Given the description of an element on the screen output the (x, y) to click on. 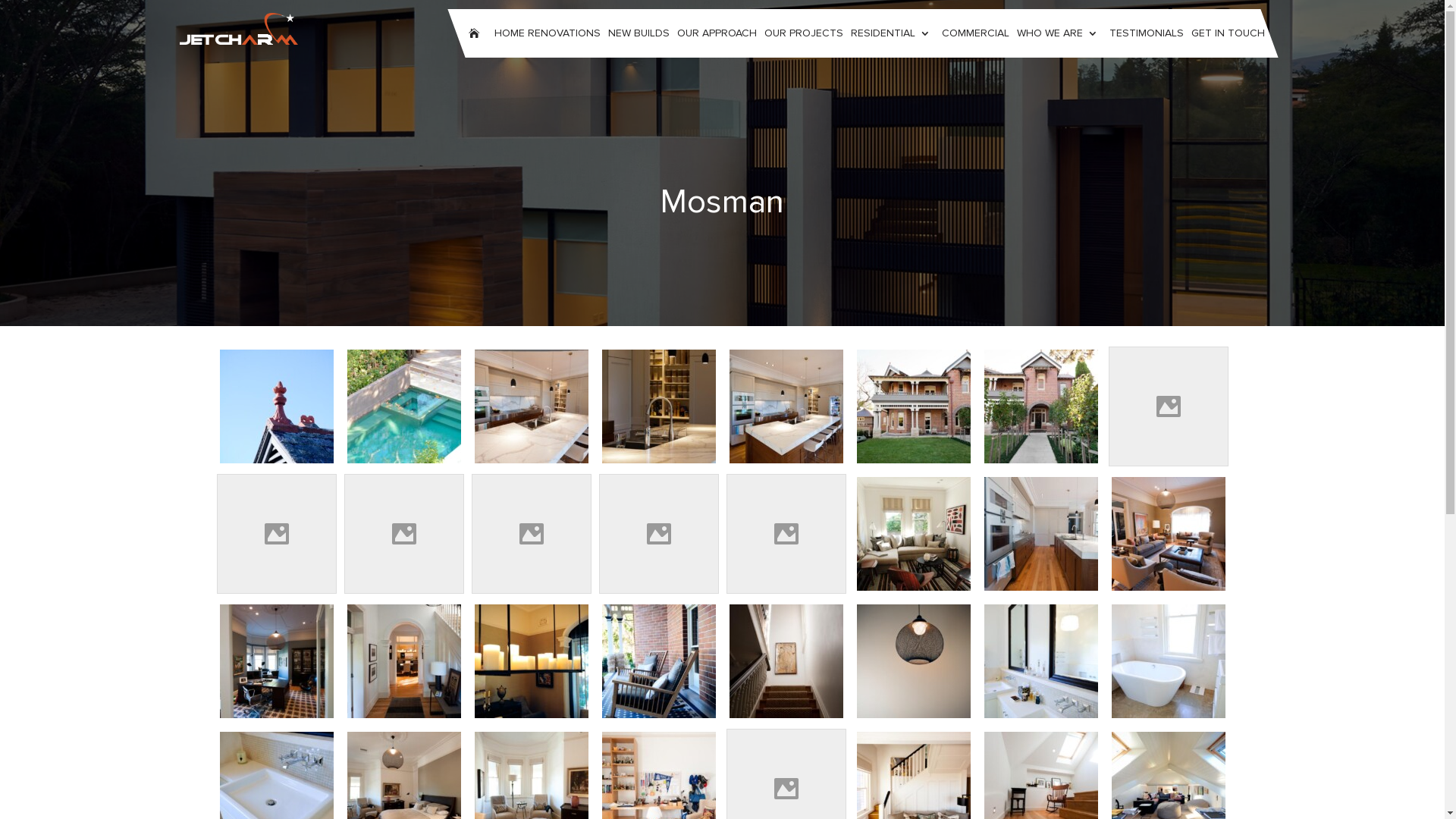
NEW BUILDS Element type: text (637, 33)
OUR APPROACH Element type: text (716, 33)
GET IN TOUCH Element type: text (1227, 33)
TESTIMONIALS Element type: text (1146, 33)
OUR PROJECTS Element type: text (802, 33)
RESIDENTIAL Element type: text (891, 33)
HOME RENOVATIONS Element type: text (546, 33)
WHO WE ARE Element type: text (1059, 33)
COMMERCIAL Element type: text (974, 33)
